Given the description of an element on the screen output the (x, y) to click on. 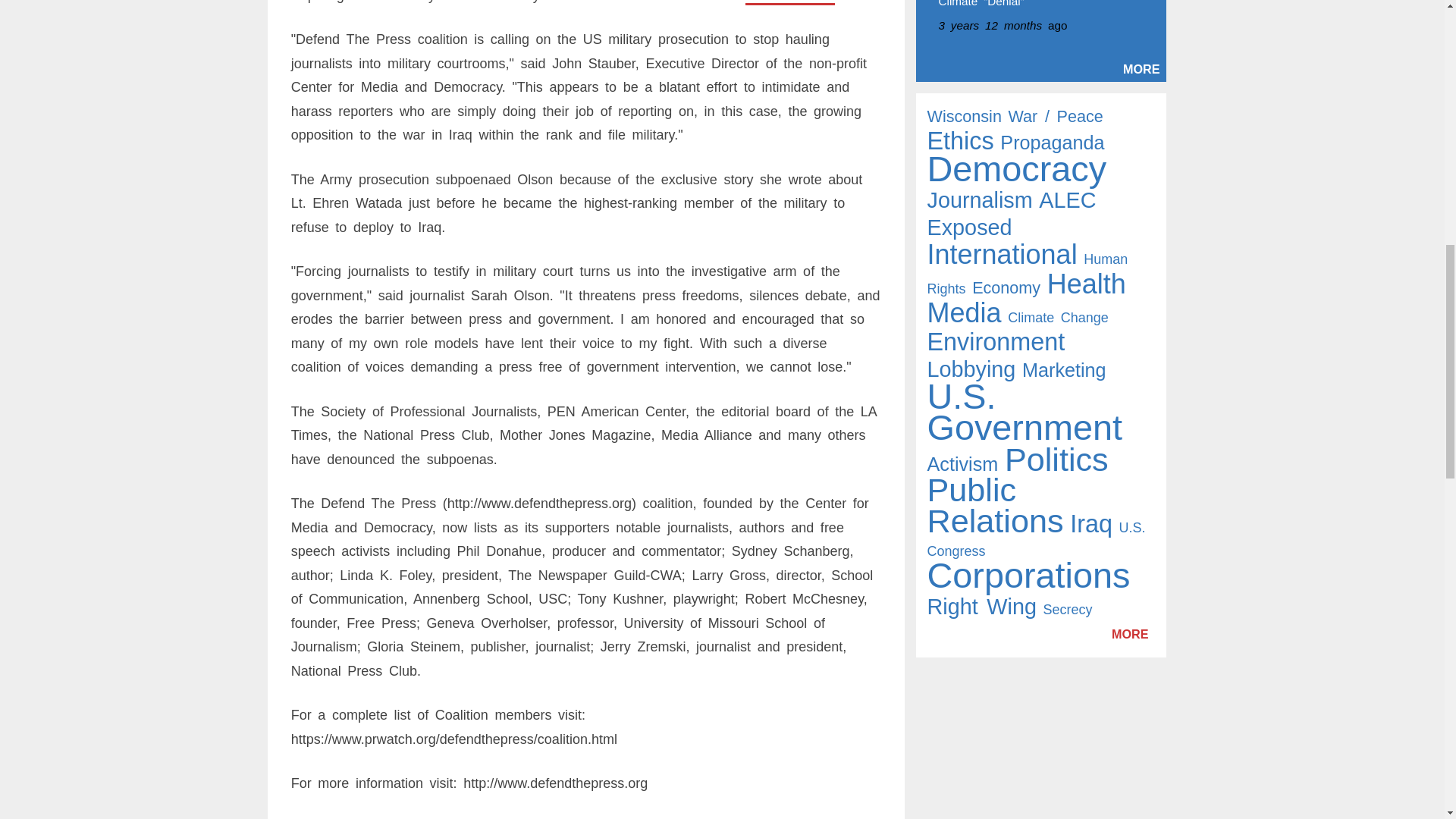
Ehren Watada (789, 1)
